Given the description of an element on the screen output the (x, y) to click on. 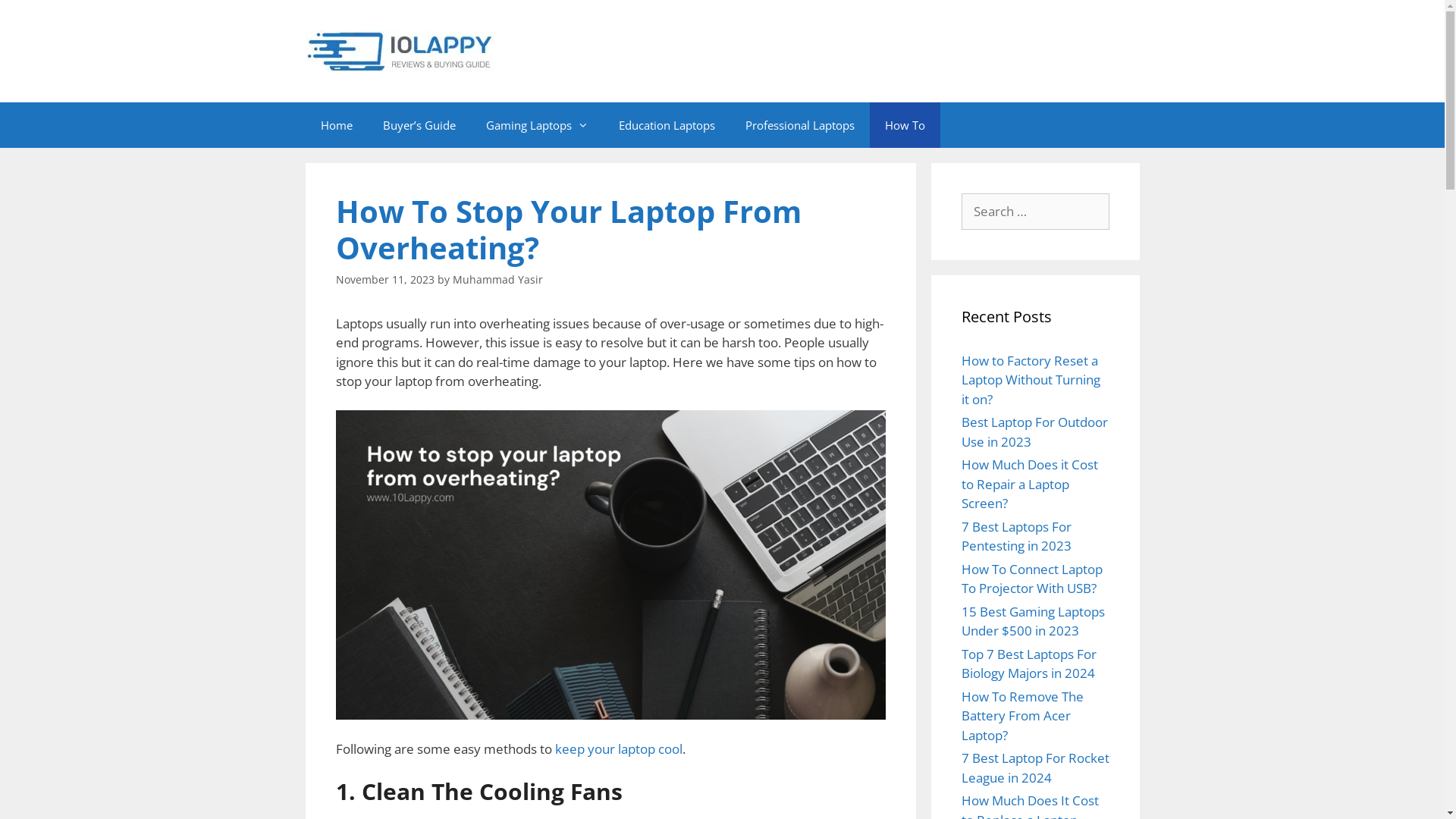
How To Connect Laptop To Projector With USB? Element type: text (1031, 577)
Search Element type: text (36, 18)
How Much Does it Cost to Repair a Laptop Screen? Element type: text (1029, 483)
Best Laptop For Outdoor Use in 2023 Element type: text (1034, 431)
15 Best Gaming Laptops Under $500 in 2023 Element type: text (1032, 620)
Muhammad Yasir Element type: text (496, 279)
7 Best Laptop For Rocket League in 2024 Element type: text (1035, 767)
How To Remove The Battery From Acer Laptop? Element type: text (1022, 715)
Education Laptops Element type: text (666, 124)
7 Best Laptops For Pentesting in 2023 Element type: text (1016, 535)
Top 7 Best Laptops For Biology Majors in 2024 Element type: text (1028, 662)
How to Factory Reset a Laptop Without Turning it on? Element type: text (1030, 379)
Gaming Laptops Element type: text (536, 124)
Professional Laptops Element type: text (799, 124)
How To Element type: text (904, 124)
Home Element type: text (335, 124)
Search for: Element type: hover (1035, 211)
keep your laptop cool Element type: text (618, 748)
